Given the description of an element on the screen output the (x, y) to click on. 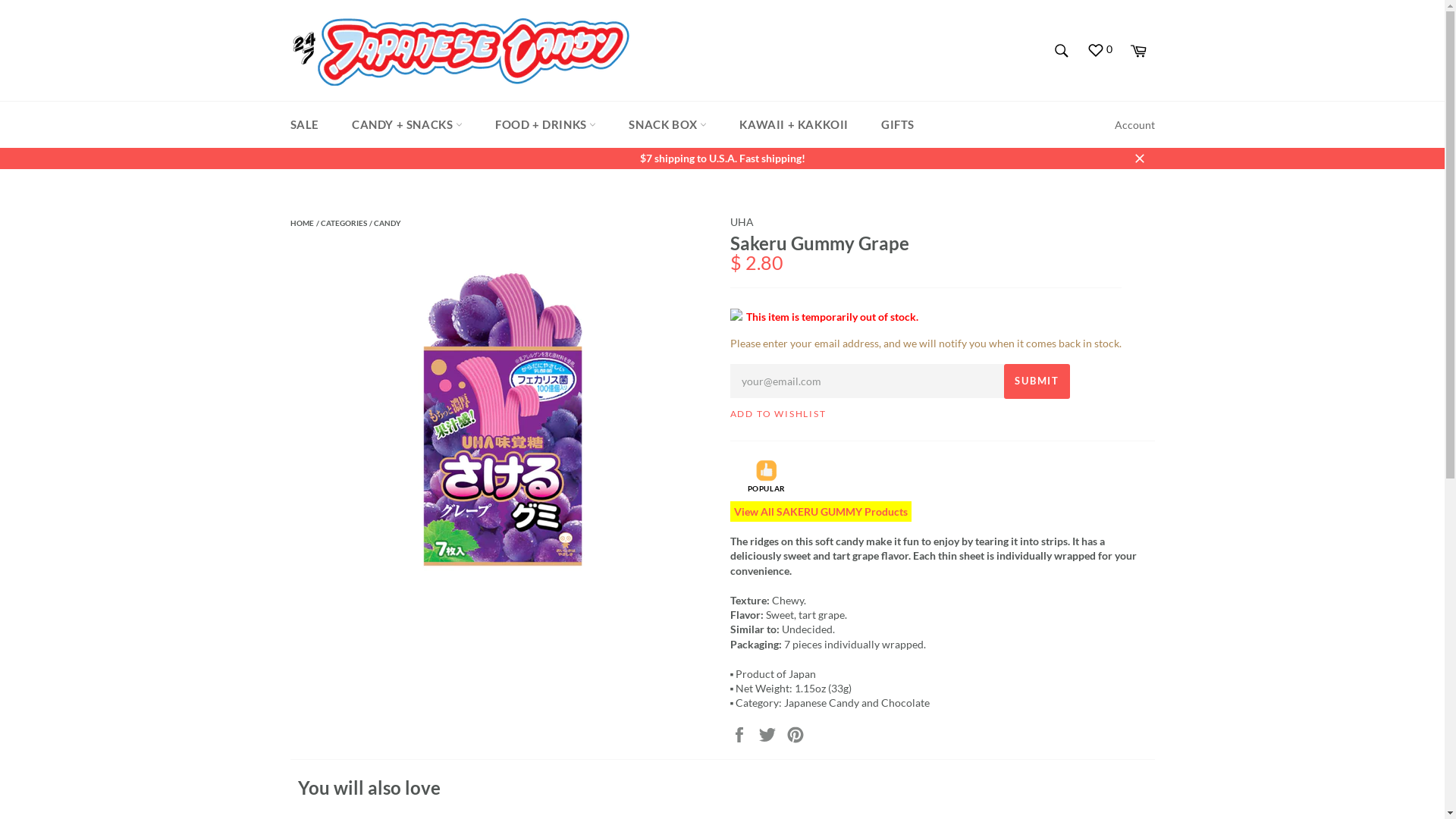
View All SAKERU GUMMY Products Element type: text (819, 511)
ADD TO WISHLIST Element type: text (777, 413)
Share on Facebook Element type: text (739, 732)
GIFTS Element type: text (897, 124)
Pin on Pinterest Element type: text (794, 732)
Cart Element type: text (1138, 50)
Popular Element type: hover (766, 470)
/ CANDY Element type: text (384, 222)
HOME Element type: text (301, 222)
Close Element type: text (1138, 158)
SUBMIT Element type: text (1037, 381)
Account Element type: text (1134, 124)
Search Element type: text (1061, 50)
FOOD + DRINKS Element type: text (545, 124)
KAWAII + KAKKOII Element type: text (793, 124)
SNACK BOX Element type: text (667, 124)
Tweet on Twitter Element type: text (768, 732)
0 Element type: text (1099, 50)
CANDY + SNACKS Element type: text (406, 124)
SALE Element type: text (303, 124)
/ CATEGORIES Element type: text (340, 222)
